Given the description of an element on the screen output the (x, y) to click on. 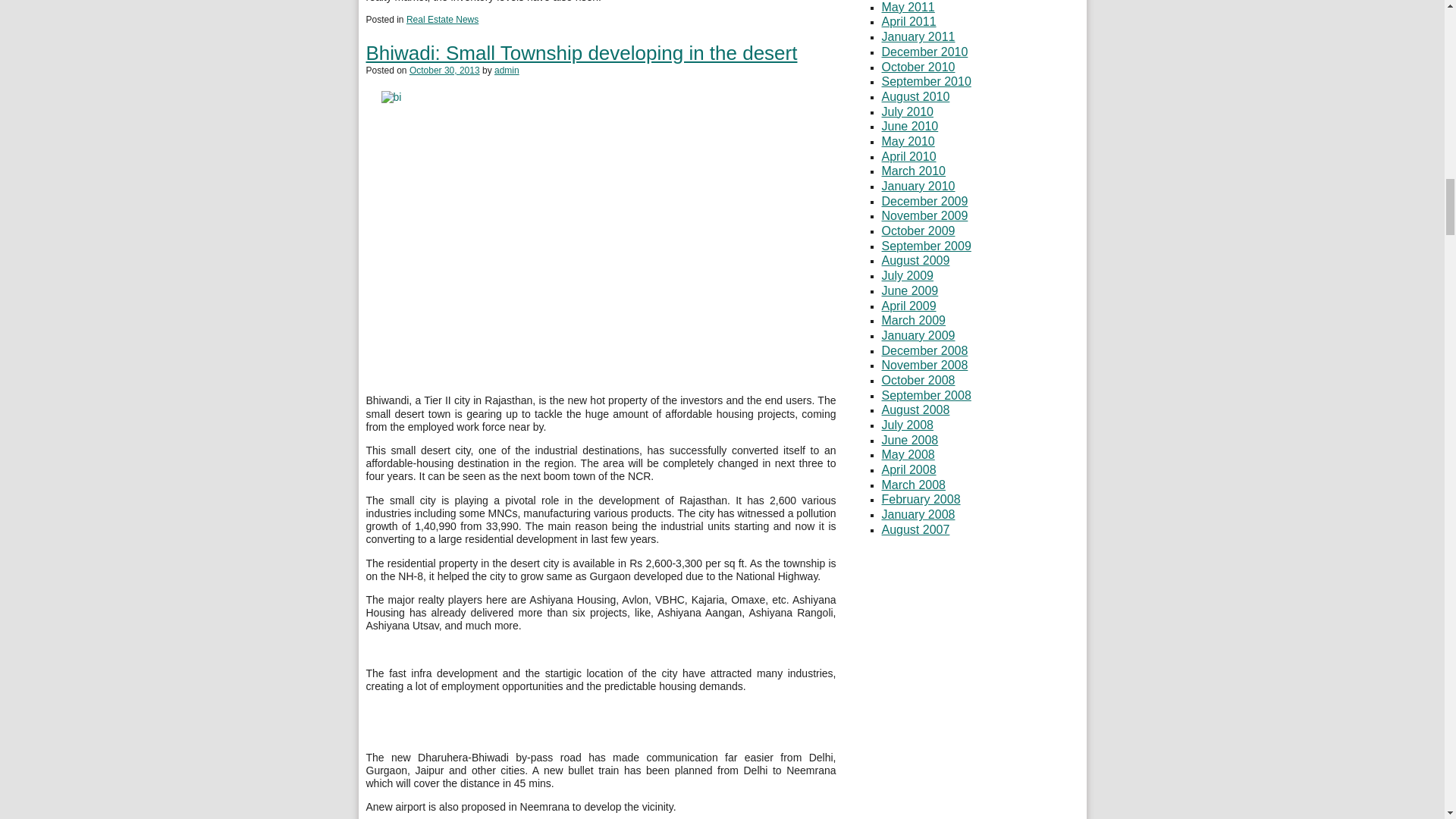
View all posts by admin (507, 70)
6:39 pm (444, 70)
